Given the description of an element on the screen output the (x, y) to click on. 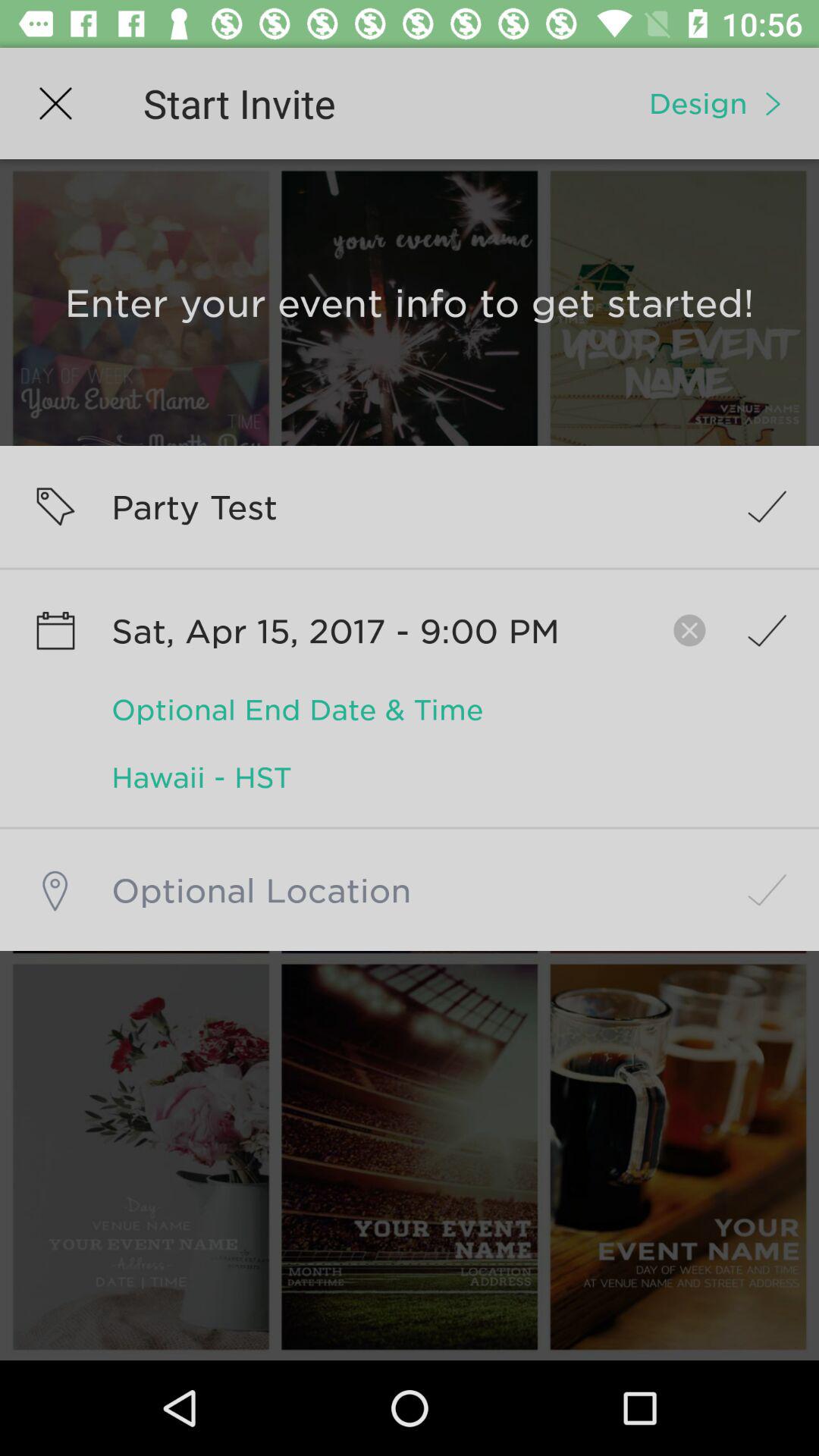
optional location (409, 889)
